Given the description of an element on the screen output the (x, y) to click on. 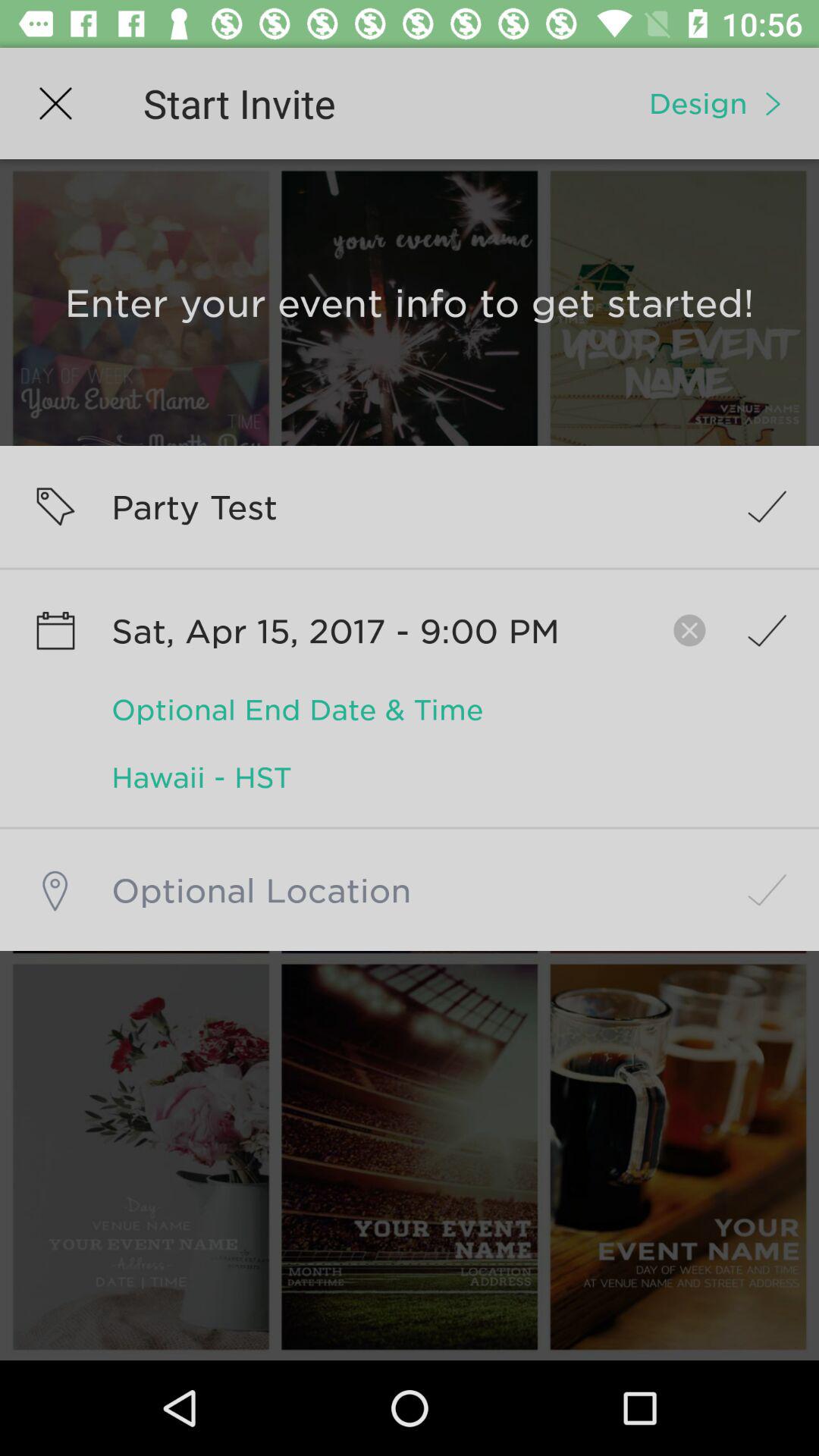
optional location (409, 889)
